Given the description of an element on the screen output the (x, y) to click on. 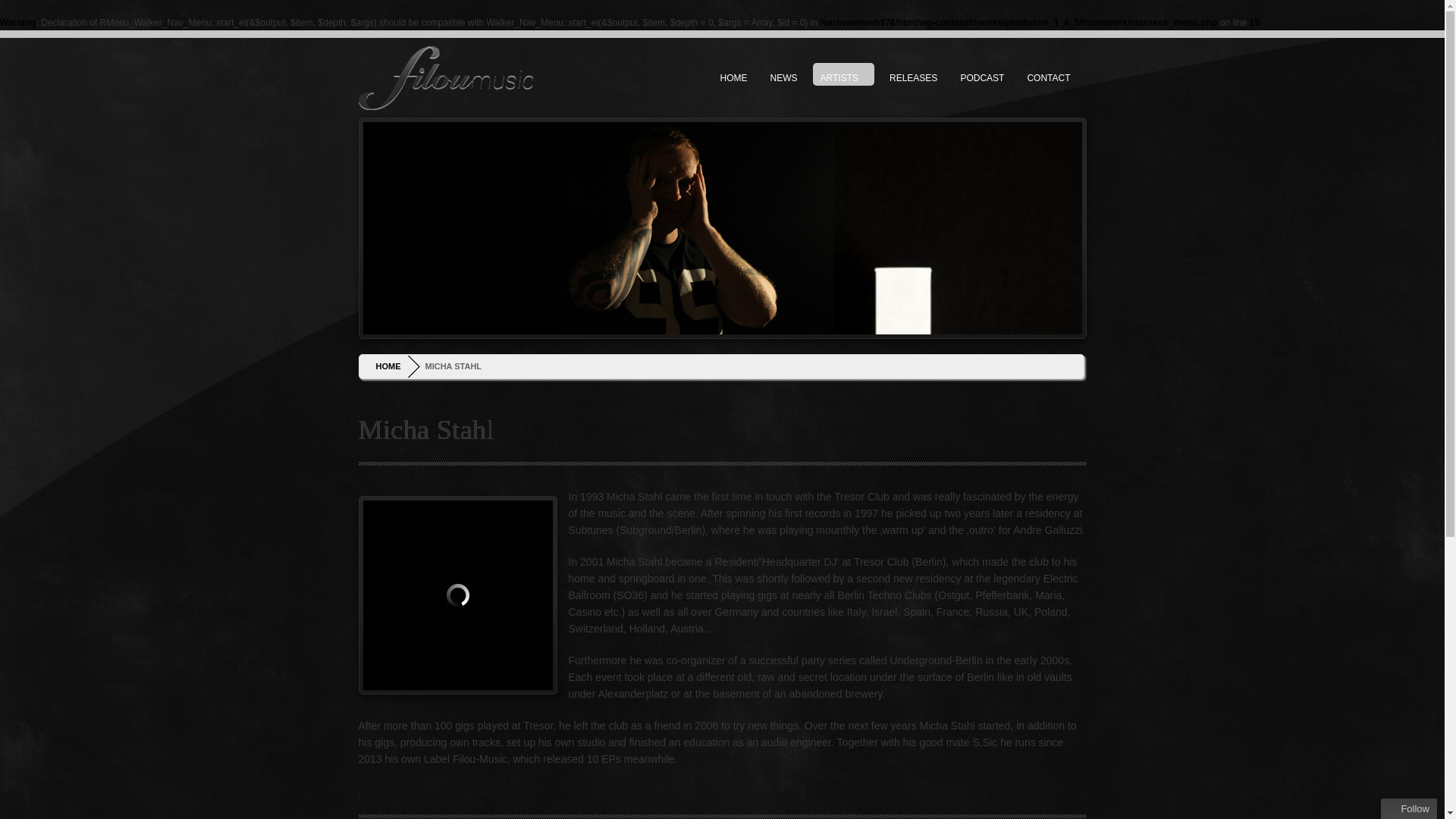
Follow (1408, 808)
PODCAST (981, 73)
CONTACT (1052, 73)
NEWS (783, 73)
ARTISTS (843, 73)
HOME (394, 366)
RELEASES (913, 73)
Filou-Music (445, 77)
Filou-Music (445, 106)
HOME (734, 73)
